Given the description of an element on the screen output the (x, y) to click on. 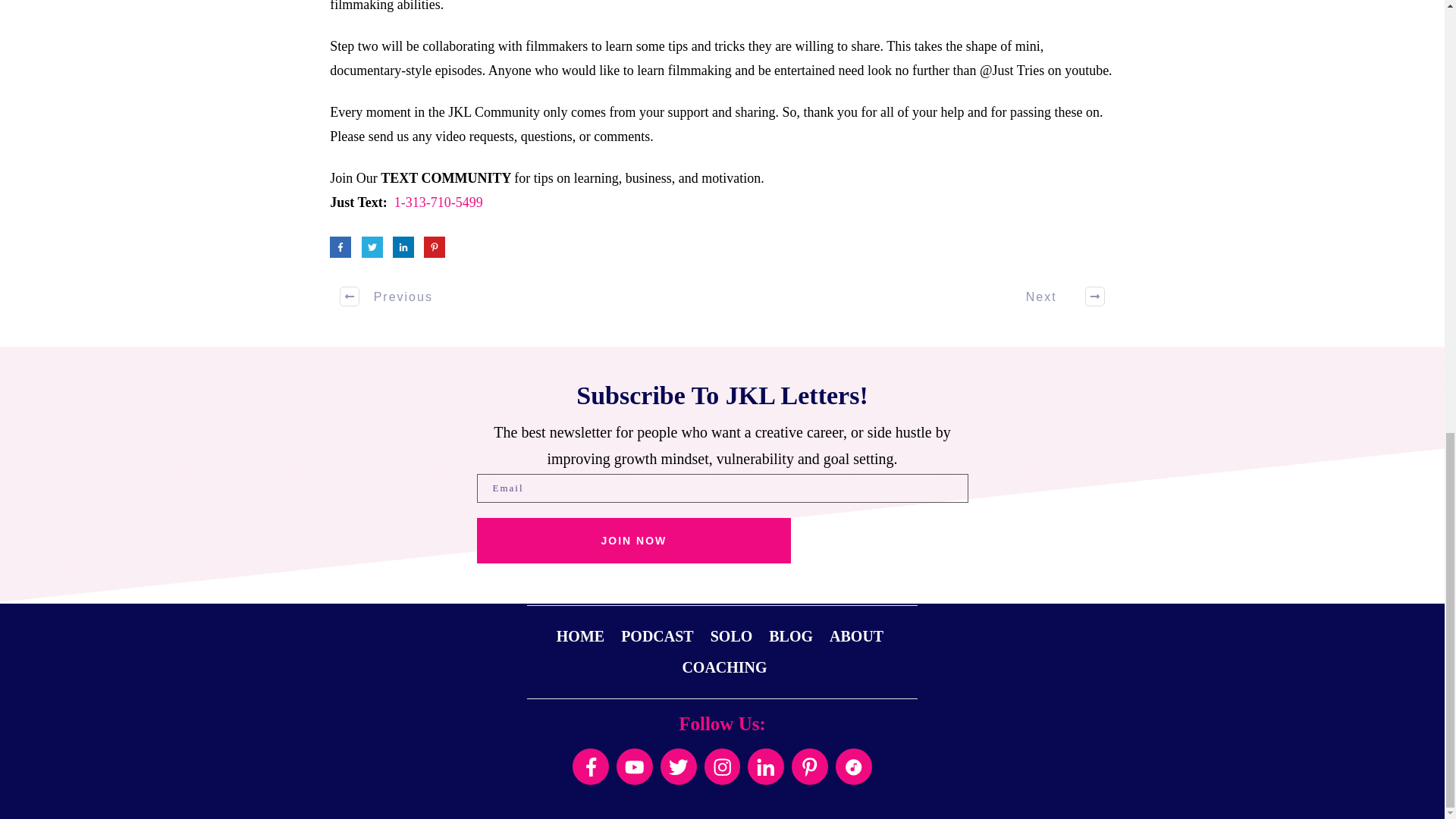
1-313-710-5499 (438, 201)
Next (1056, 296)
JOIN NOW (633, 540)
HOME (580, 635)
PODCAST (657, 635)
BLOG (790, 635)
ABOUT (856, 635)
Previous (387, 296)
COACHING (724, 666)
SOLO (731, 635)
